Given the description of an element on the screen output the (x, y) to click on. 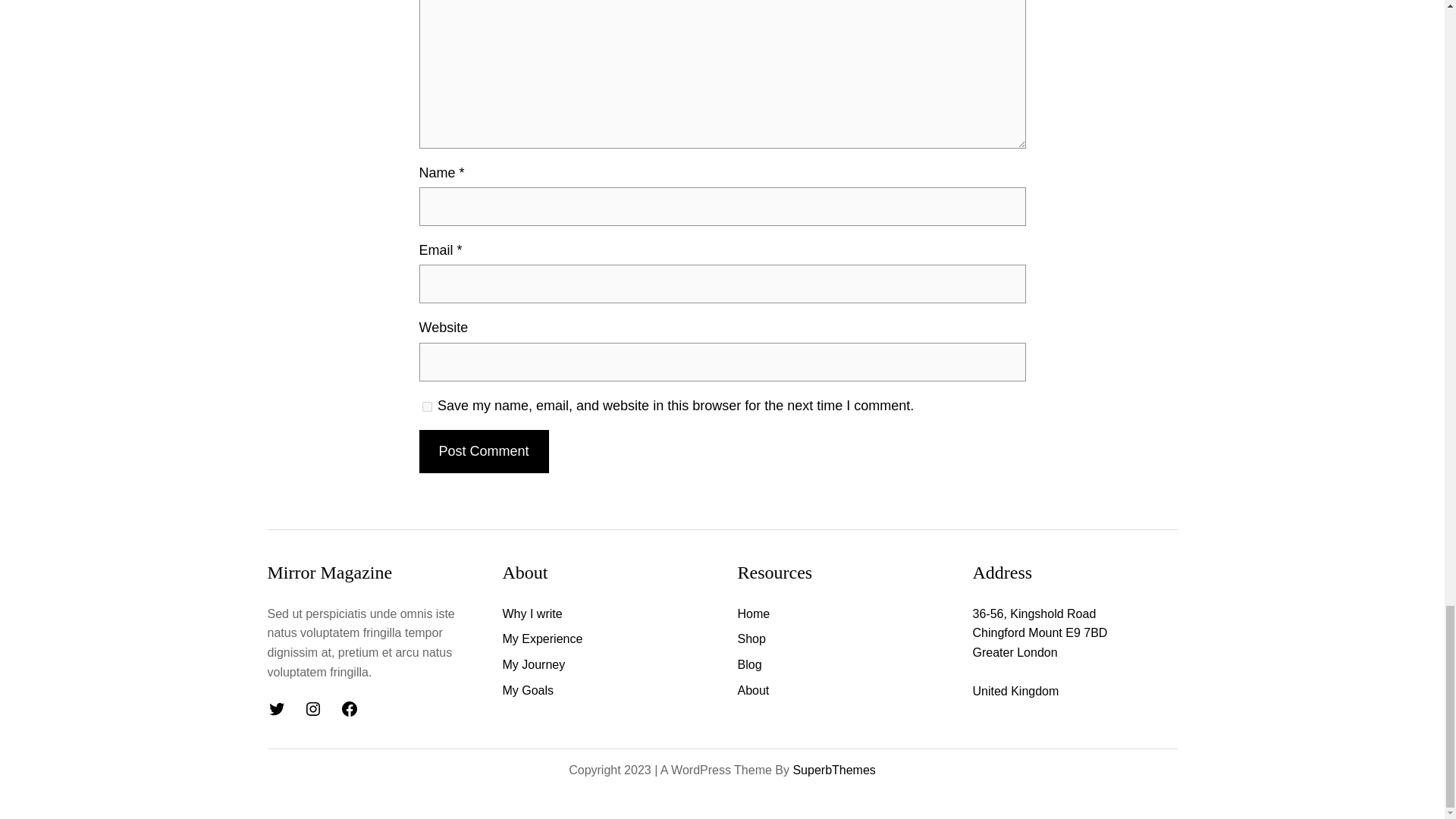
Blog (748, 664)
Why I write (532, 614)
My Experience (542, 639)
Instagram (311, 709)
Shop (750, 639)
Post Comment (483, 451)
Post Comment (483, 451)
Facebook (348, 709)
SuperbThemes (833, 769)
My Goals (527, 690)
